Given the description of an element on the screen output the (x, y) to click on. 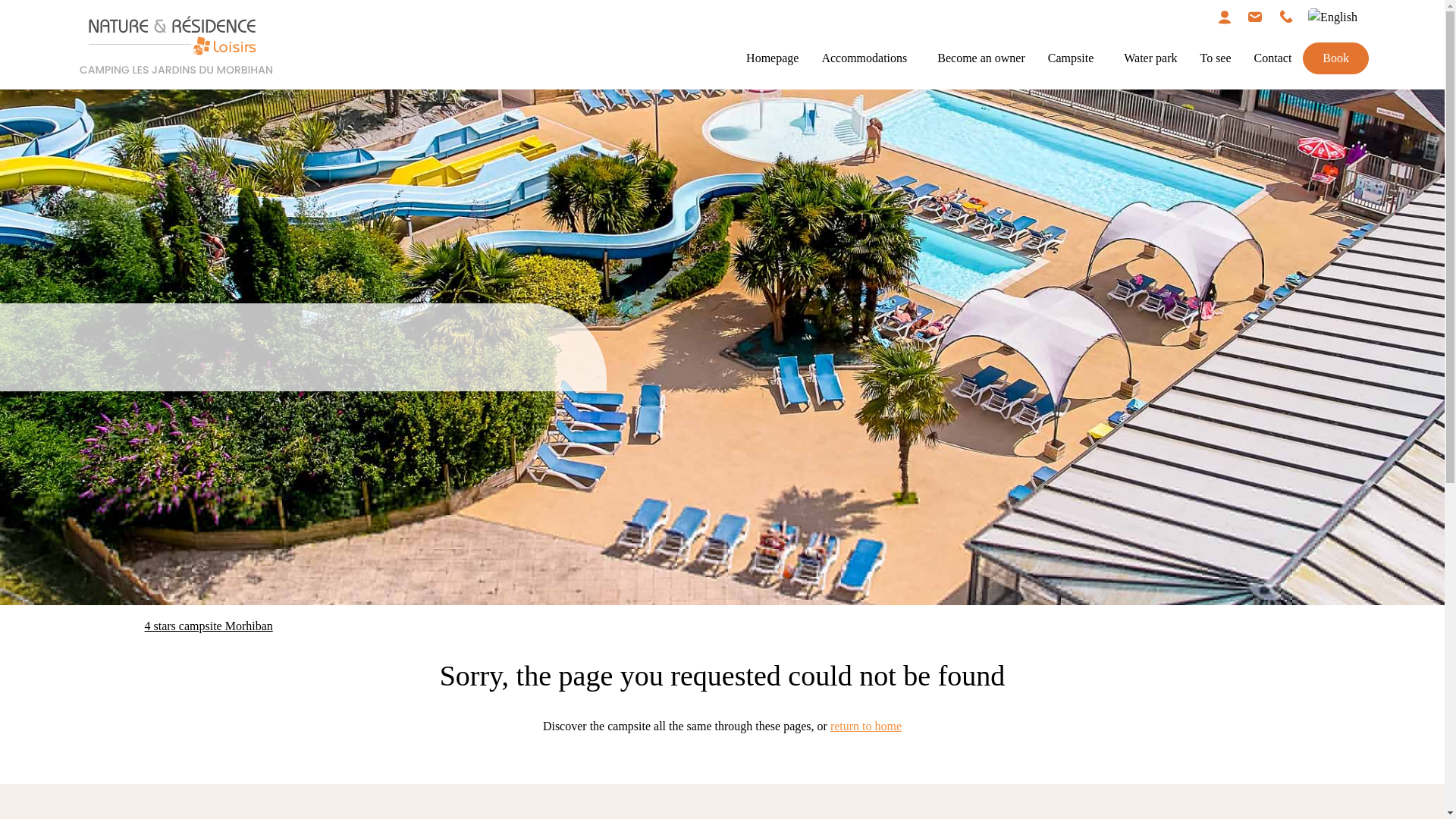
4 stars campsite Morhiban (208, 625)
Campsite (1070, 57)
Accommodations (864, 57)
Homepage (771, 57)
return to home (865, 725)
Water park (1150, 57)
Become an owner (981, 57)
Book (1335, 57)
To see (1214, 57)
Contact (1272, 57)
